Given the description of an element on the screen output the (x, y) to click on. 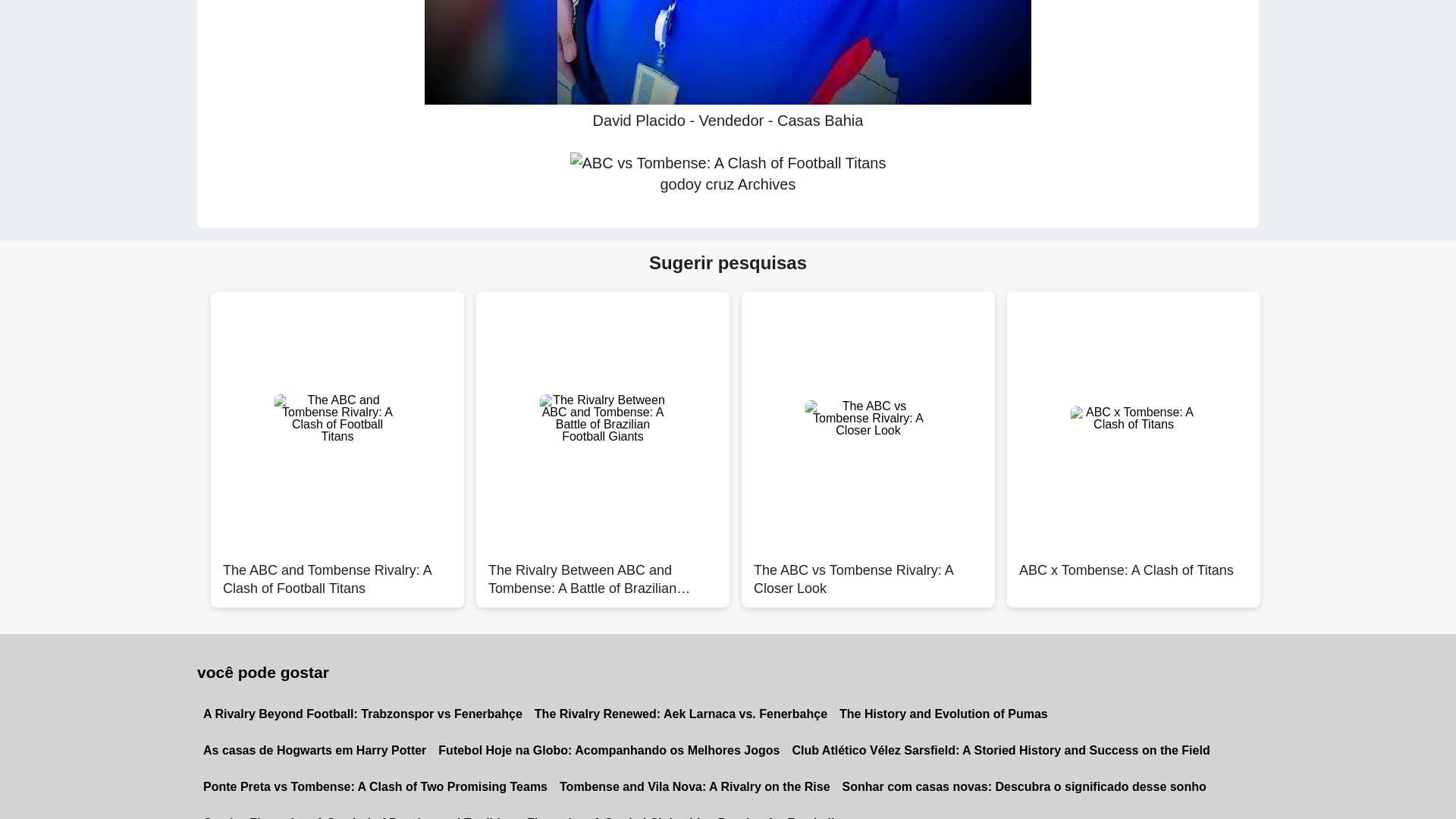
The History and Evolution of Pumas (943, 714)
Sonhar com casas novas: Descubra o significado desse sonho (1023, 787)
Fiorentina: A Storied Club with a Passion for Football (680, 812)
Ponte Preta vs Tombense: A Clash of Two Promising Teams (374, 787)
Tombense and Vila Nova: A Rivalry on the Rise (694, 787)
Camisa Fiorentina: A Symbol of Passion and Tradition (358, 812)
ABC x Tombense: A Clash of Titans (1133, 571)
As casas de Hogwarts em Harry Potter (314, 750)
The ABC and Tombense Rivalry: A Clash of Football Titans (337, 571)
The ABC vs Tombense Rivalry: A Closer Look (867, 571)
Futebol Hoje na Globo: Acompanhando os Melhores Jogos (609, 750)
